Given the description of an element on the screen output the (x, y) to click on. 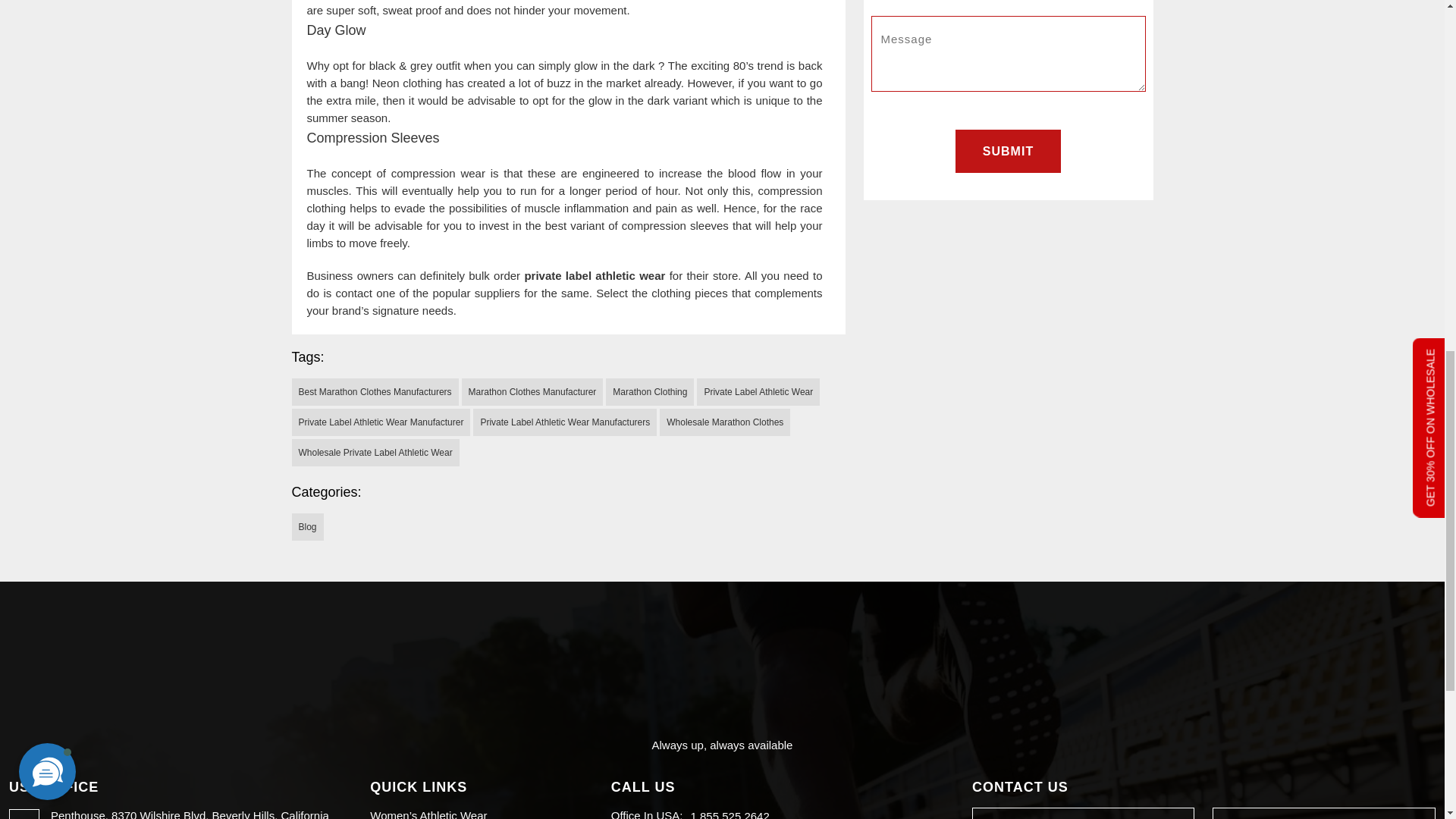
Submit (1008, 150)
Blog (307, 526)
private label athletic wear (594, 275)
Marathon Clothing (649, 391)
Wholesale Private Label Athletic Wear (374, 452)
Submit (1008, 150)
Marathon Clothes Manufacturer (532, 391)
Private Label Athletic Wear Manufacturers (564, 421)
Best Marathon Clothes Manufacturers (374, 391)
Wholesale Marathon Clothes (724, 421)
Private Label Athletic Wear Manufacturer (380, 421)
Private Label Athletic Wear (758, 391)
